Given the description of an element on the screen output the (x, y) to click on. 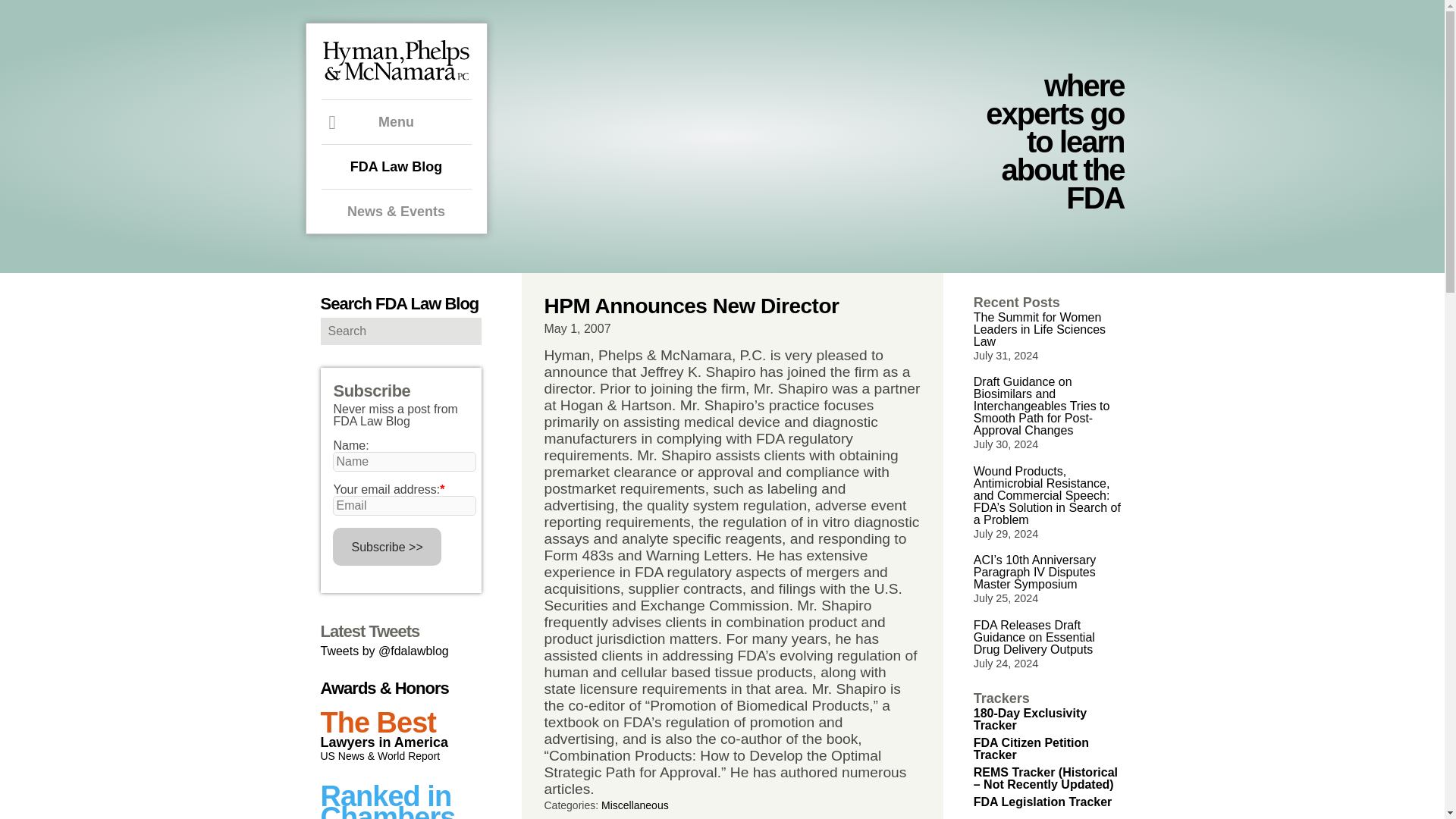
The Summit for Women Leaders in Life Sciences Law (1039, 329)
FDA Legislation Tracker (1043, 801)
FDA Law Blog (396, 166)
180-Day Exclusivity Tracker (1030, 719)
FDA Citizen Petition Tracker (1031, 748)
